Given the description of an element on the screen output the (x, y) to click on. 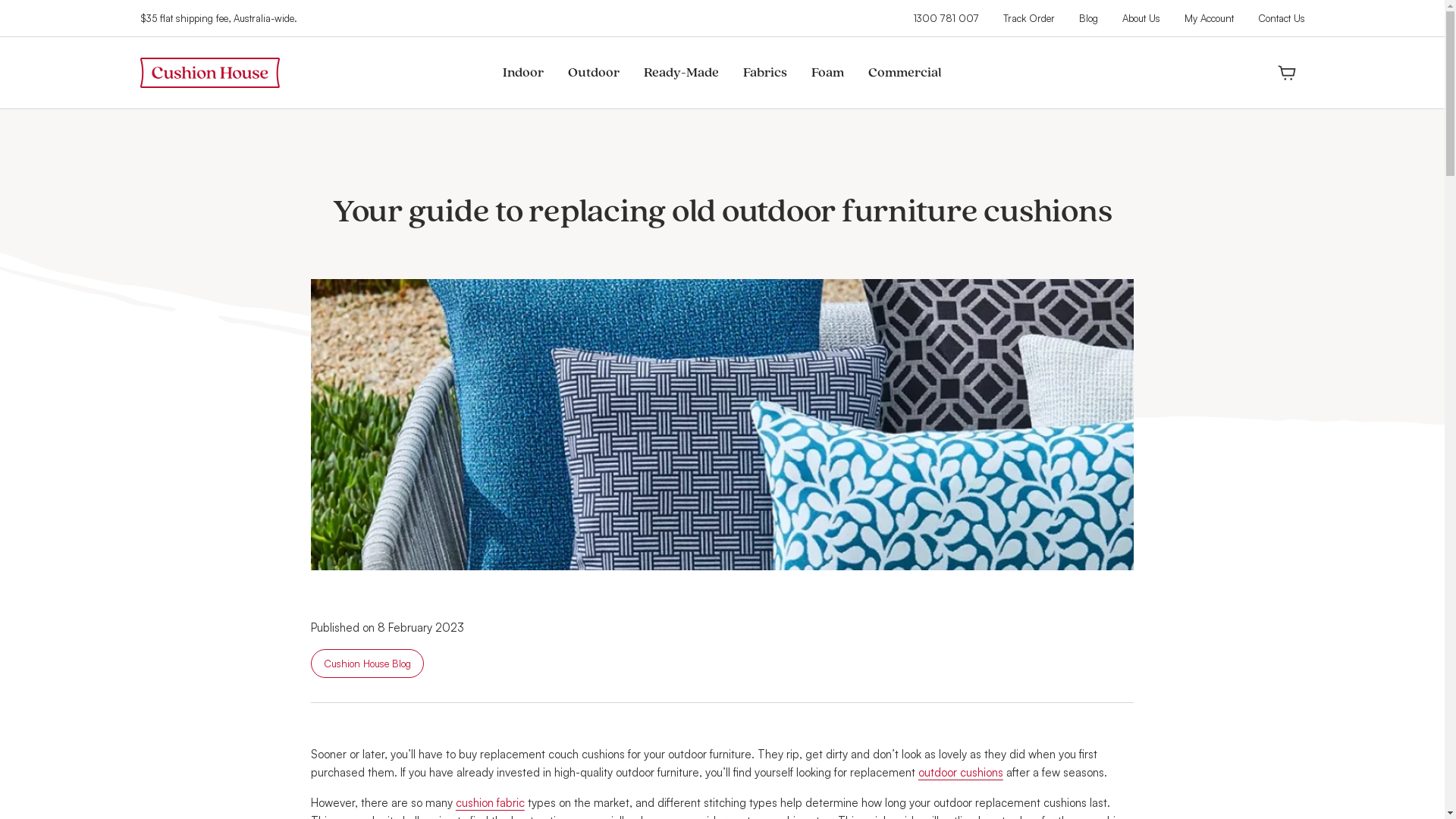
outdoor cushions Element type: text (960, 772)
About Us Element type: text (1141, 17)
Fabrics Element type: text (765, 72)
Indoor Element type: text (522, 72)
Track Order Element type: text (1028, 17)
cushion fabric Element type: text (489, 802)
Commercial Element type: text (904, 72)
My Account Element type: text (1208, 17)
Blog Element type: text (1087, 17)
Foam Element type: text (827, 72)
1300 781 007 Element type: text (945, 17)
Cushion House Austtalia Element type: hover (209, 72)
Ready-Made Element type: text (680, 72)
Outdoor Element type: text (593, 72)
Contact Us Element type: text (1280, 17)
